Given the description of an element on the screen output the (x, y) to click on. 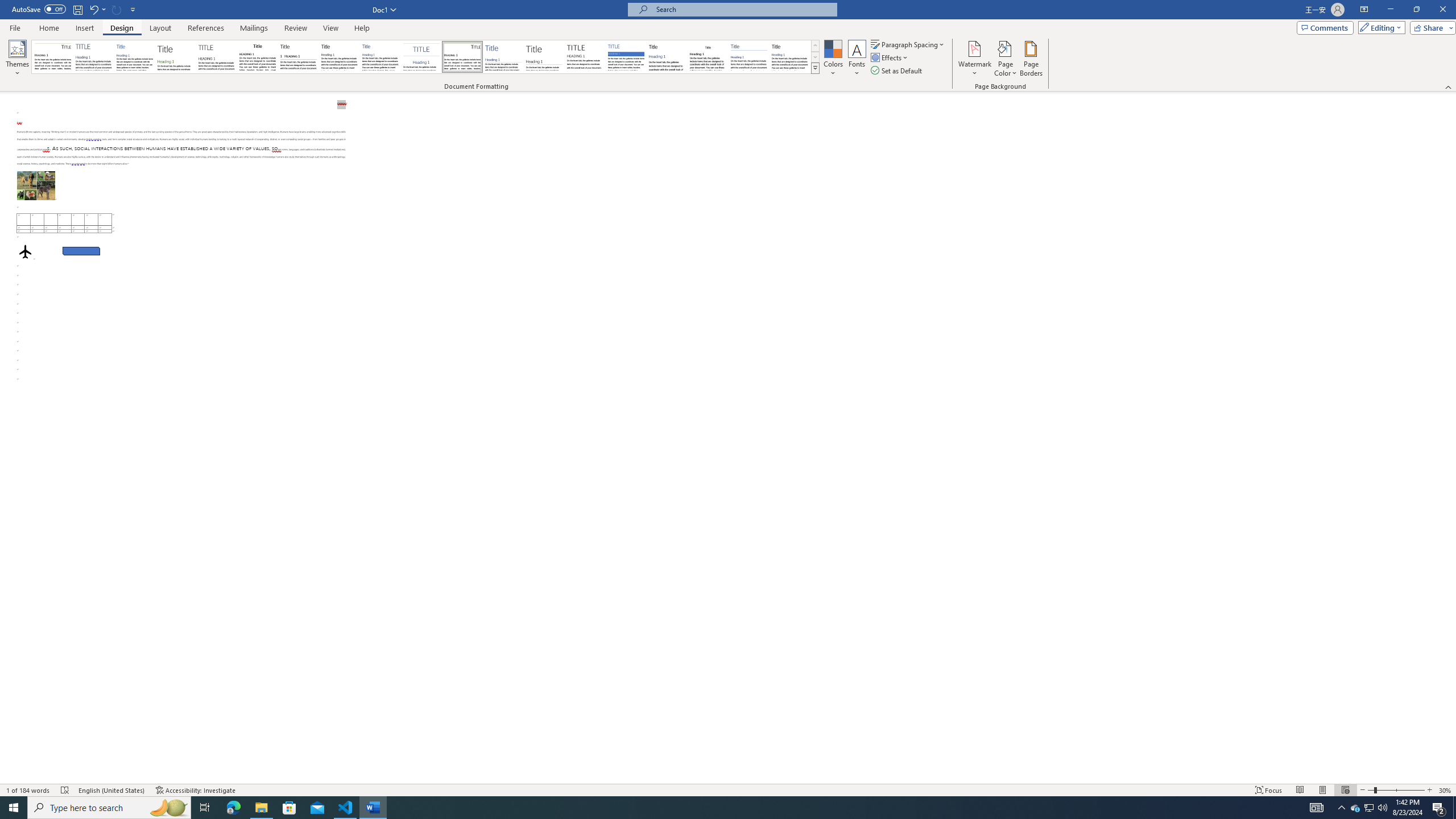
Undo Apply Quick Style Set (96, 9)
Lines (Distinctive) (462, 56)
Can't Repeat (117, 9)
AutomationID: QuickStylesSets (425, 56)
Microsoft search (742, 9)
Accessibility Checker Accessibility: Investigate (195, 790)
Black & White (Word 2013) (338, 56)
Rectangle: Diagonal Corners Snipped 2 (81, 250)
Black & White (Numbered) (298, 56)
